Given the description of an element on the screen output the (x, y) to click on. 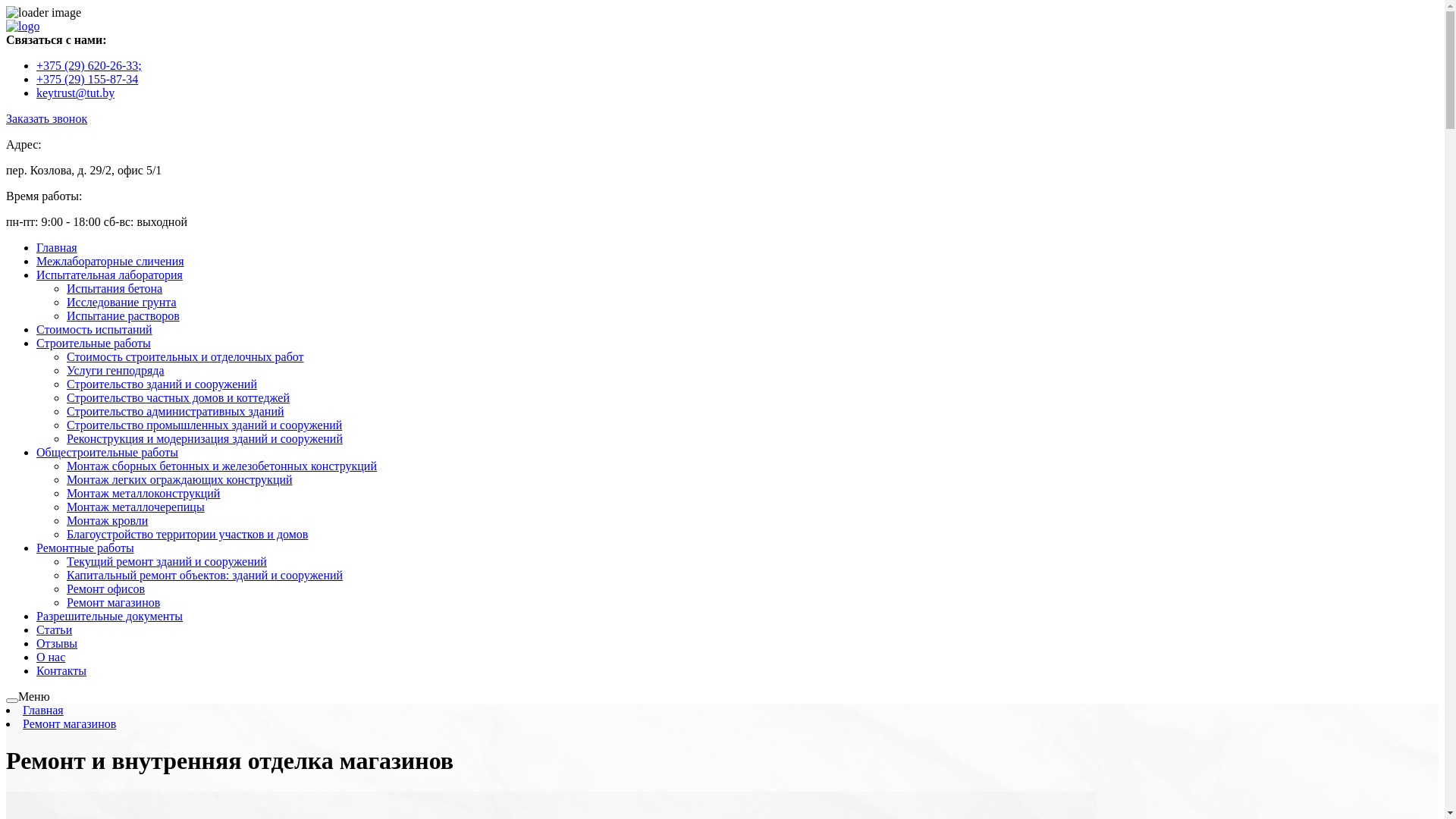
+375 (29) 155-87-34 Element type: text (87, 78)
keytrust@tut.by Element type: text (75, 92)
+375 (29) 620-26-33; Element type: text (88, 65)
